Given the description of an element on the screen output the (x, y) to click on. 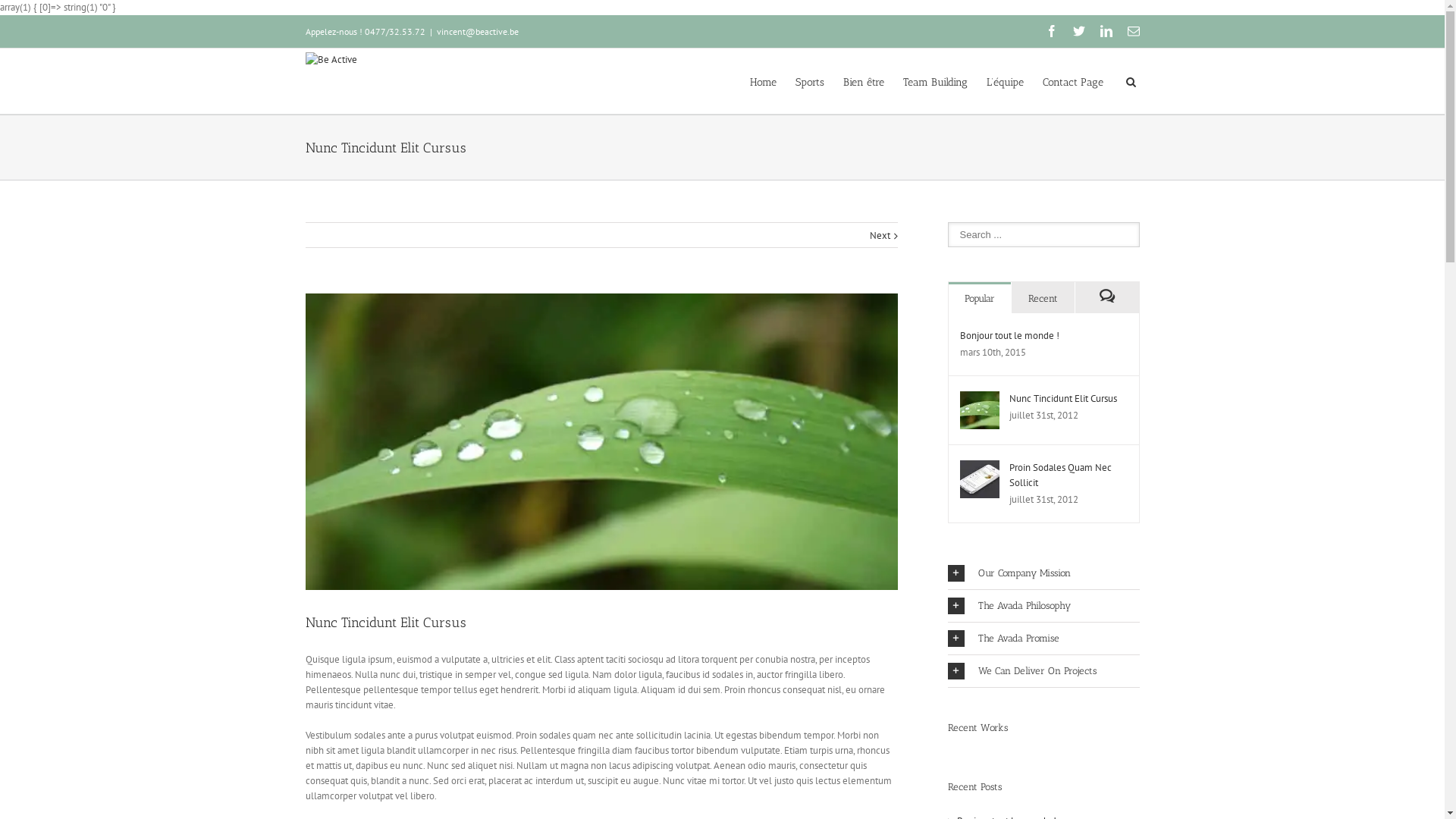
Contact Page Element type: text (1071, 80)
Popular Element type: text (978, 297)
Recent Element type: text (1042, 297)
Linkedin Element type: hover (1105, 31)
The Avada Promise Element type: text (1043, 638)
Proin Sodales Quam Nec Sollicit Element type: text (1059, 475)
Facebook Element type: hover (1050, 31)
Our Company Mission Element type: text (1043, 573)
Mail Element type: hover (1132, 31)
Nunc Tincidunt Elit Cursus Element type: text (1062, 398)
Bonjour tout le monde ! Element type: text (1009, 335)
Next Element type: text (879, 235)
Sports Element type: text (808, 80)
Home Element type: text (762, 80)
vincent@beactive.be Element type: text (477, 31)
We Can Deliver On Projects Element type: text (1043, 671)
The Avada Philosophy Element type: text (1043, 605)
Twitter Element type: hover (1078, 31)
Team Building Element type: text (934, 80)
